Given the description of an element on the screen output the (x, y) to click on. 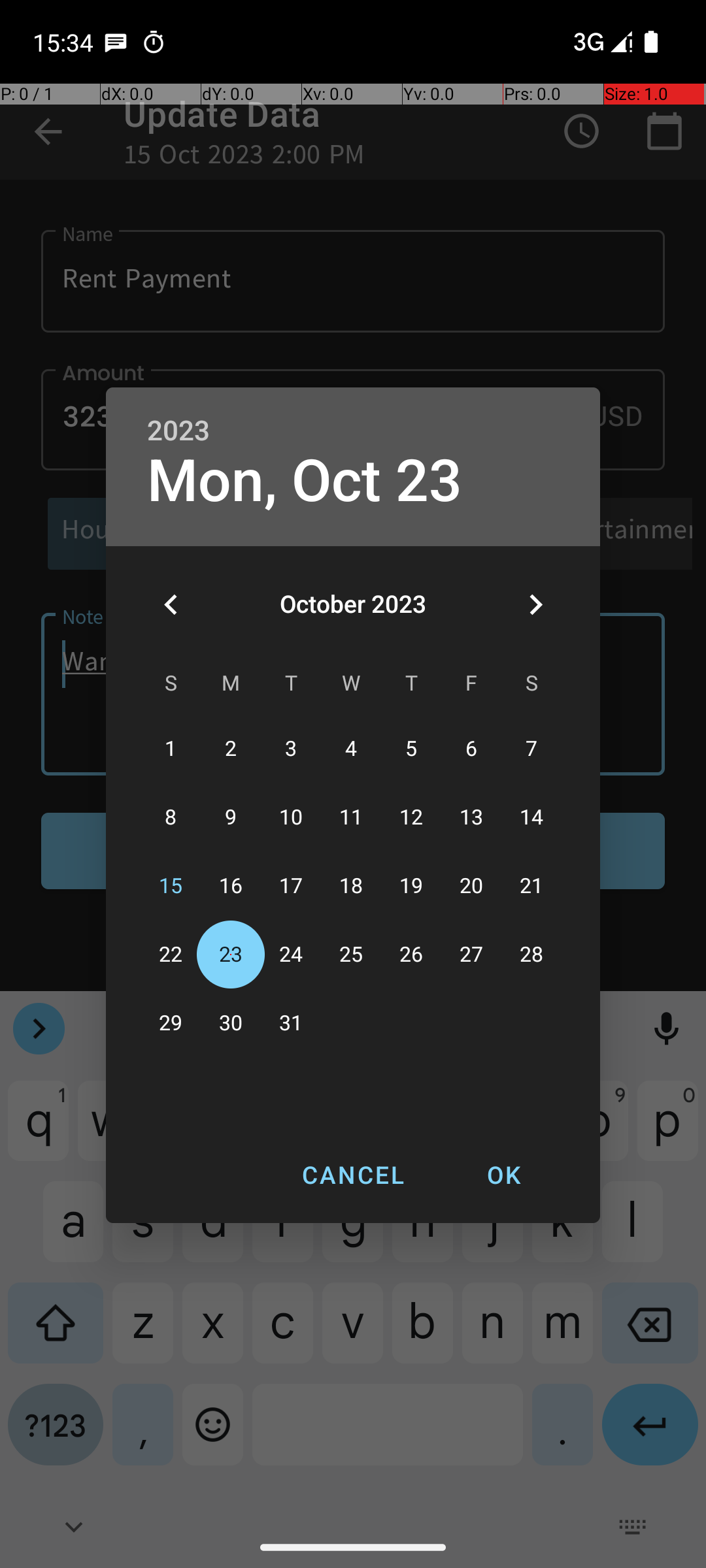
Mon, Oct 23 Element type: android.widget.TextView (304, 480)
